Given the description of an element on the screen output the (x, y) to click on. 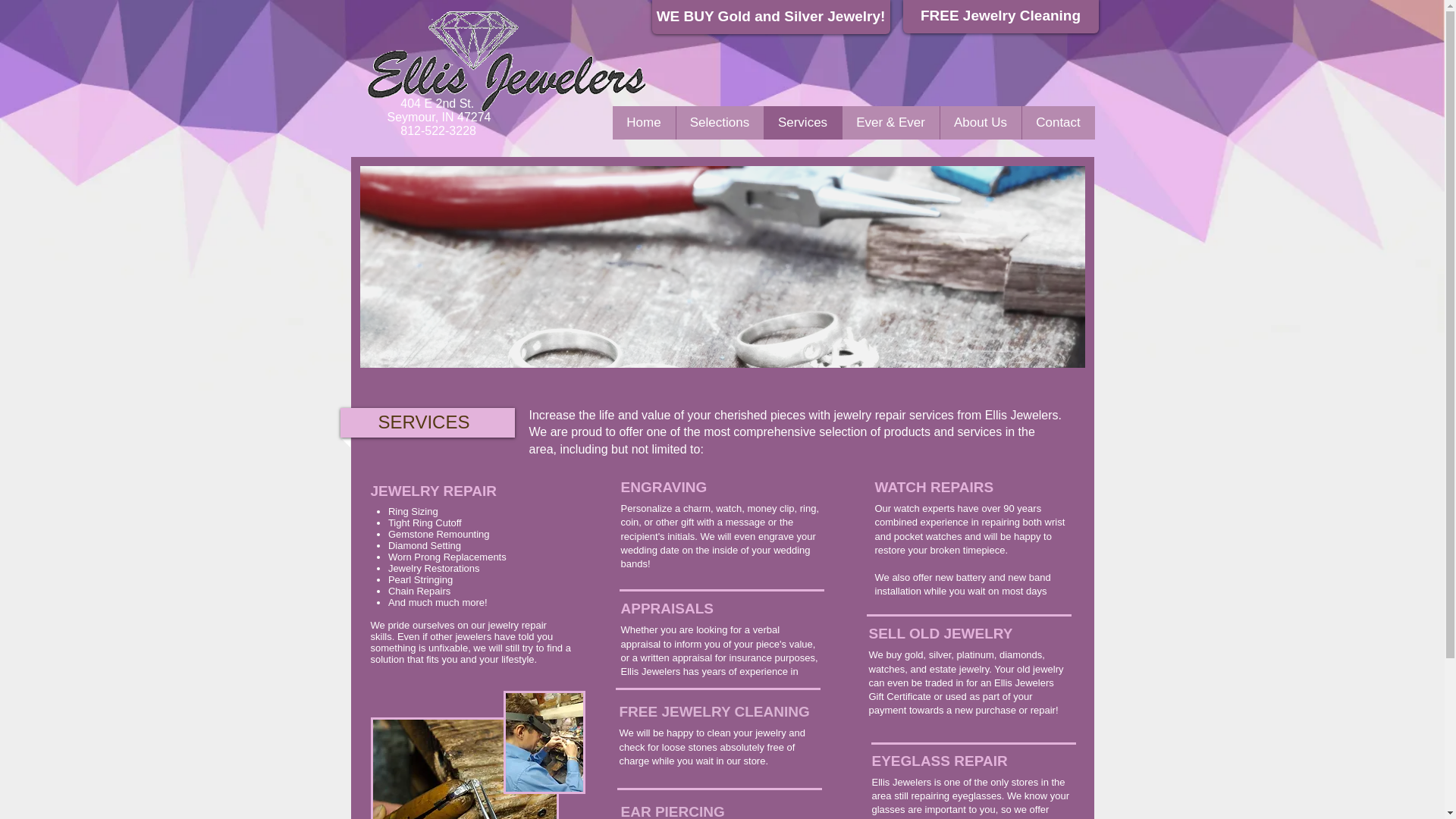
Home (643, 122)
Services (801, 122)
Selections (718, 122)
About Us (979, 122)
Contact (1057, 122)
